Given the description of an element on the screen output the (x, y) to click on. 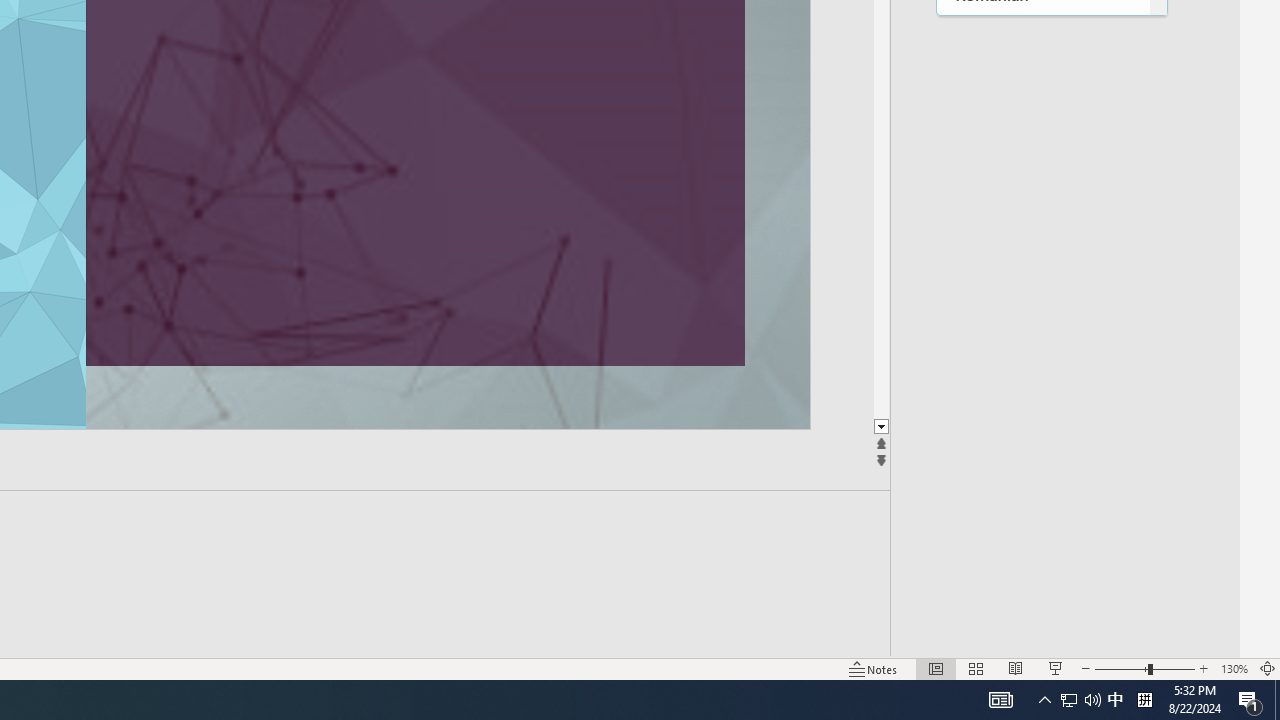
Spanish (1042, 608)
Serbian (Cyrillic) (1042, 156)
Somali (1042, 567)
Samoan (1042, 115)
Sindhi (1042, 403)
Russian (1042, 74)
